Given the description of an element on the screen output the (x, y) to click on. 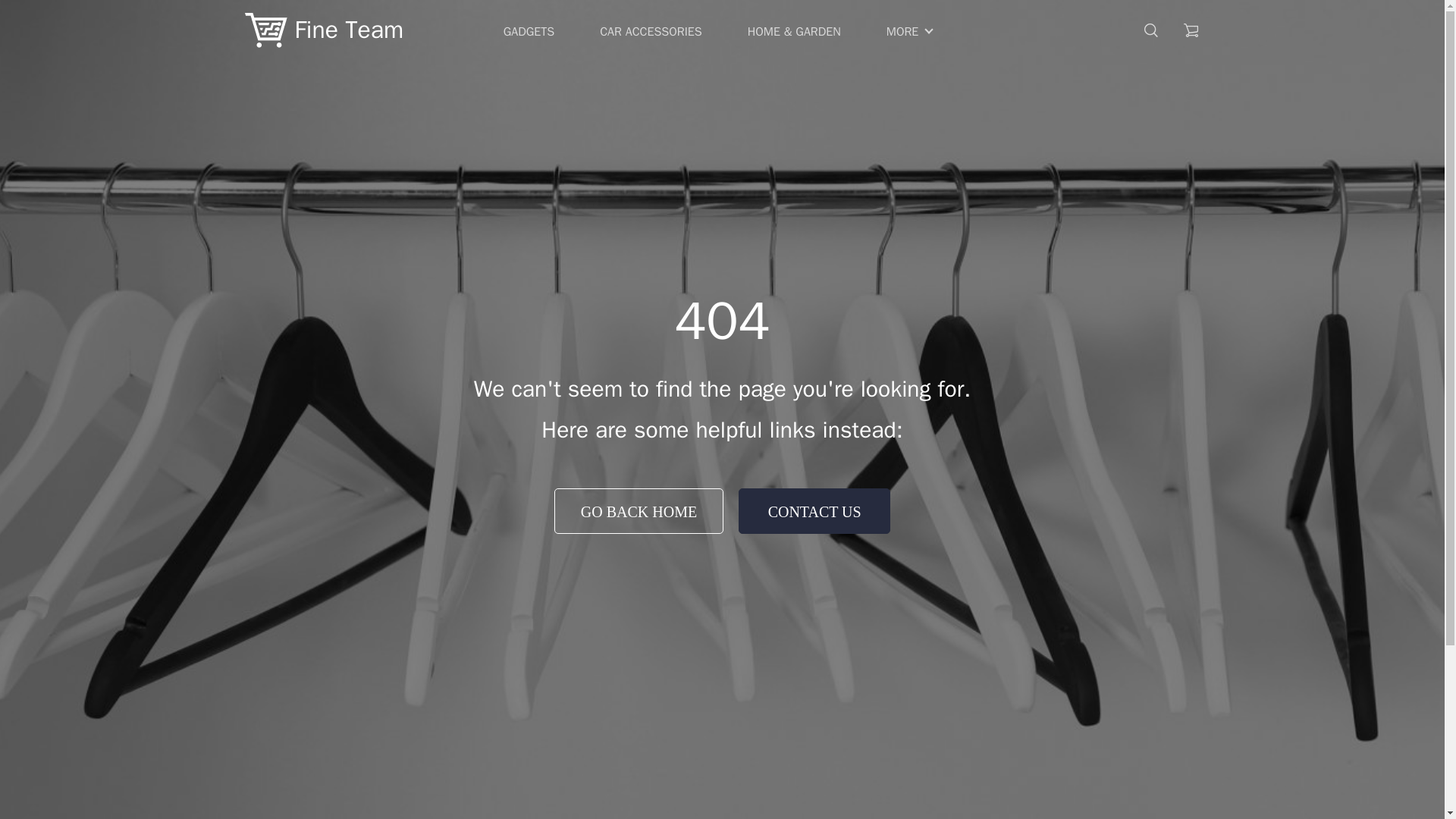
CONTACT US (813, 510)
GADGETS (528, 31)
GO BACK HOME (638, 510)
Fine Team (323, 30)
CAR ACCESSORIES (650, 31)
